Given the description of an element on the screen output the (x, y) to click on. 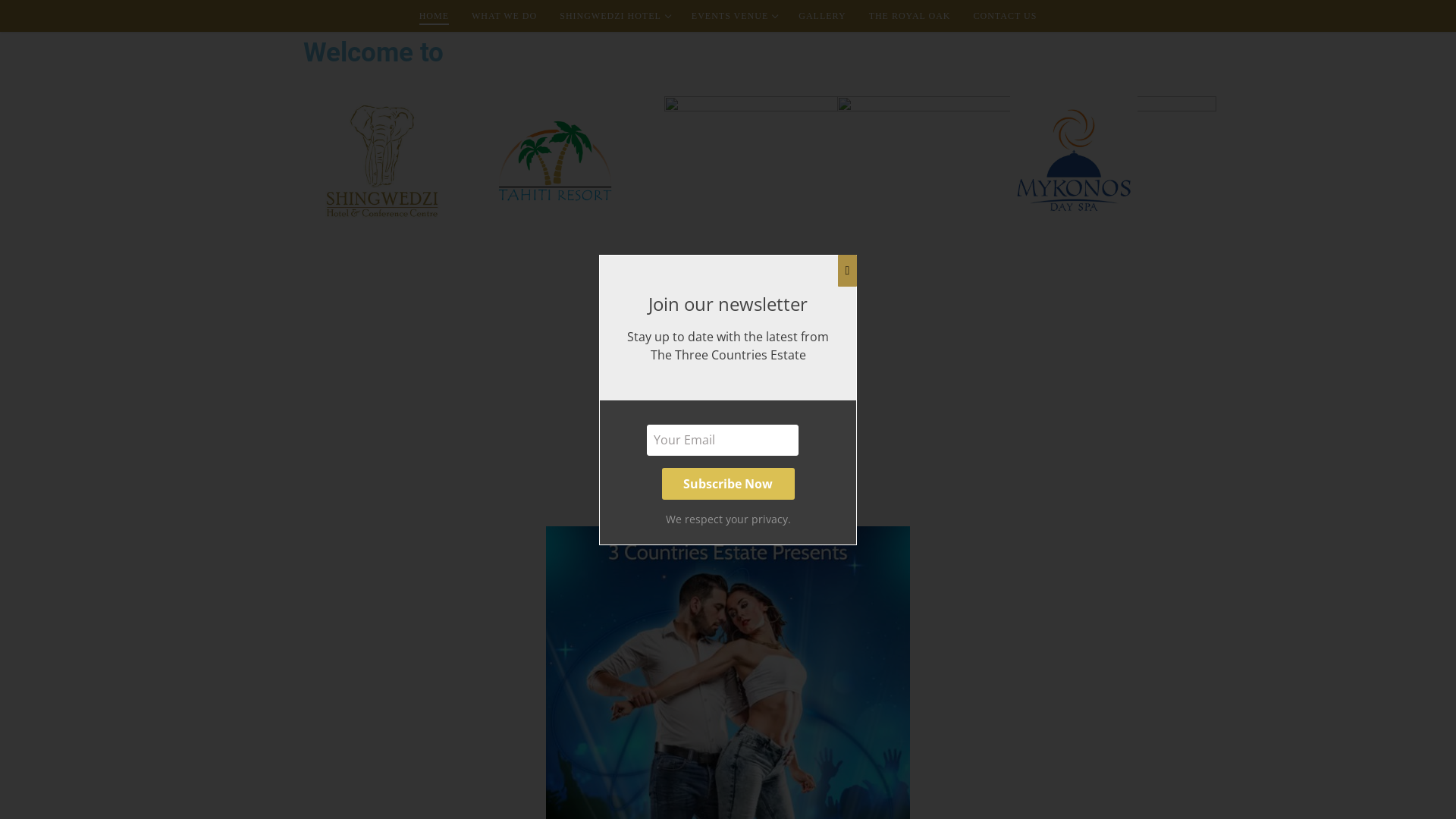
THE ROYAL OAK Element type: text (909, 15)
SHINGWEDZI HOTEL
  Element type: text (613, 15)
GALLERY Element type: text (821, 15)
CONTACT US Element type: text (1005, 15)
Subscribe Now Element type: text (727, 483)
HOME Element type: text (433, 15)
EVENTS VENUE
  Element type: text (733, 15)
WHAT WE DO Element type: text (503, 15)
